Given the description of an element on the screen output the (x, y) to click on. 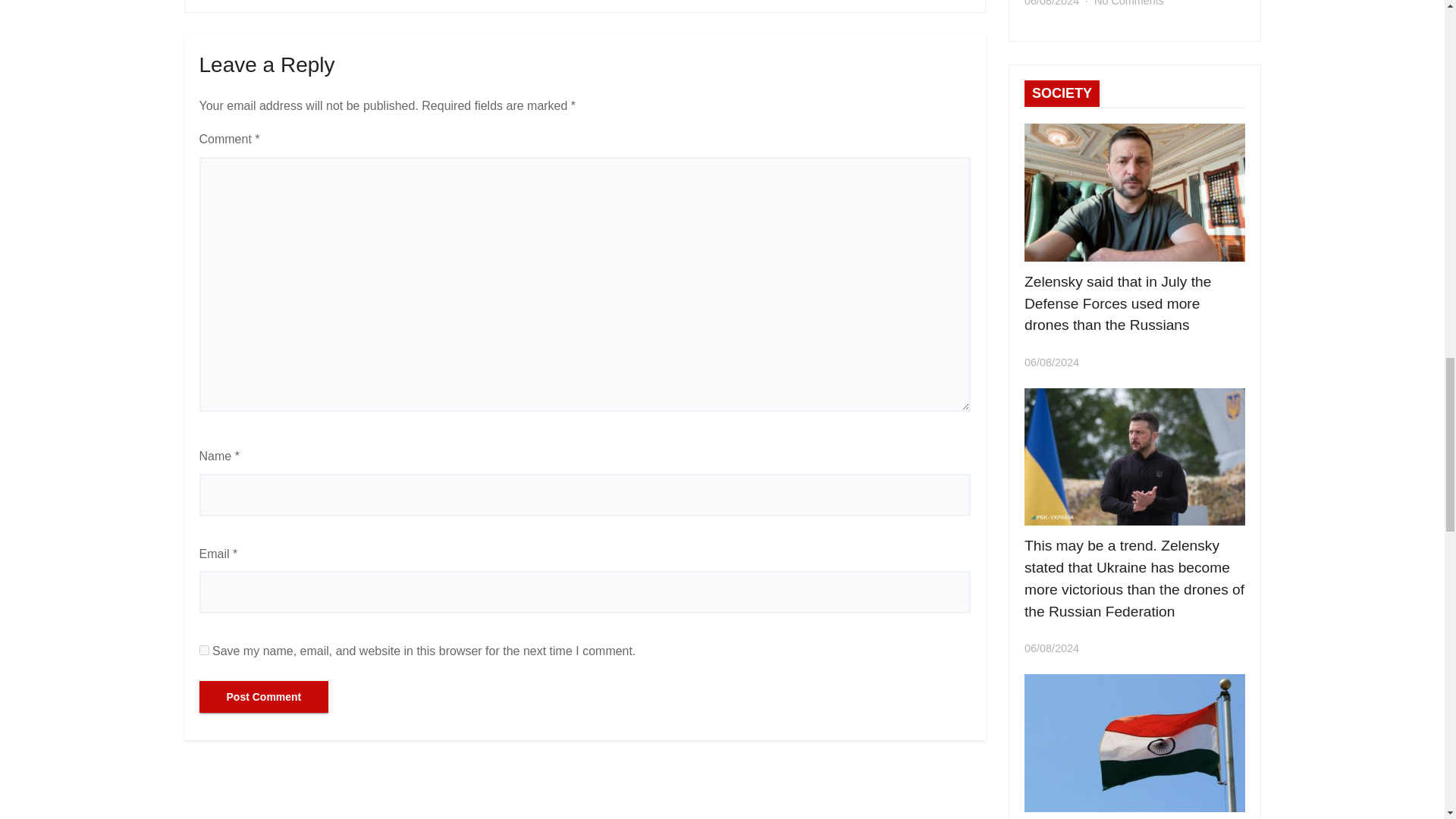
yes (203, 650)
Post Comment (263, 696)
